Given the description of an element on the screen output the (x, y) to click on. 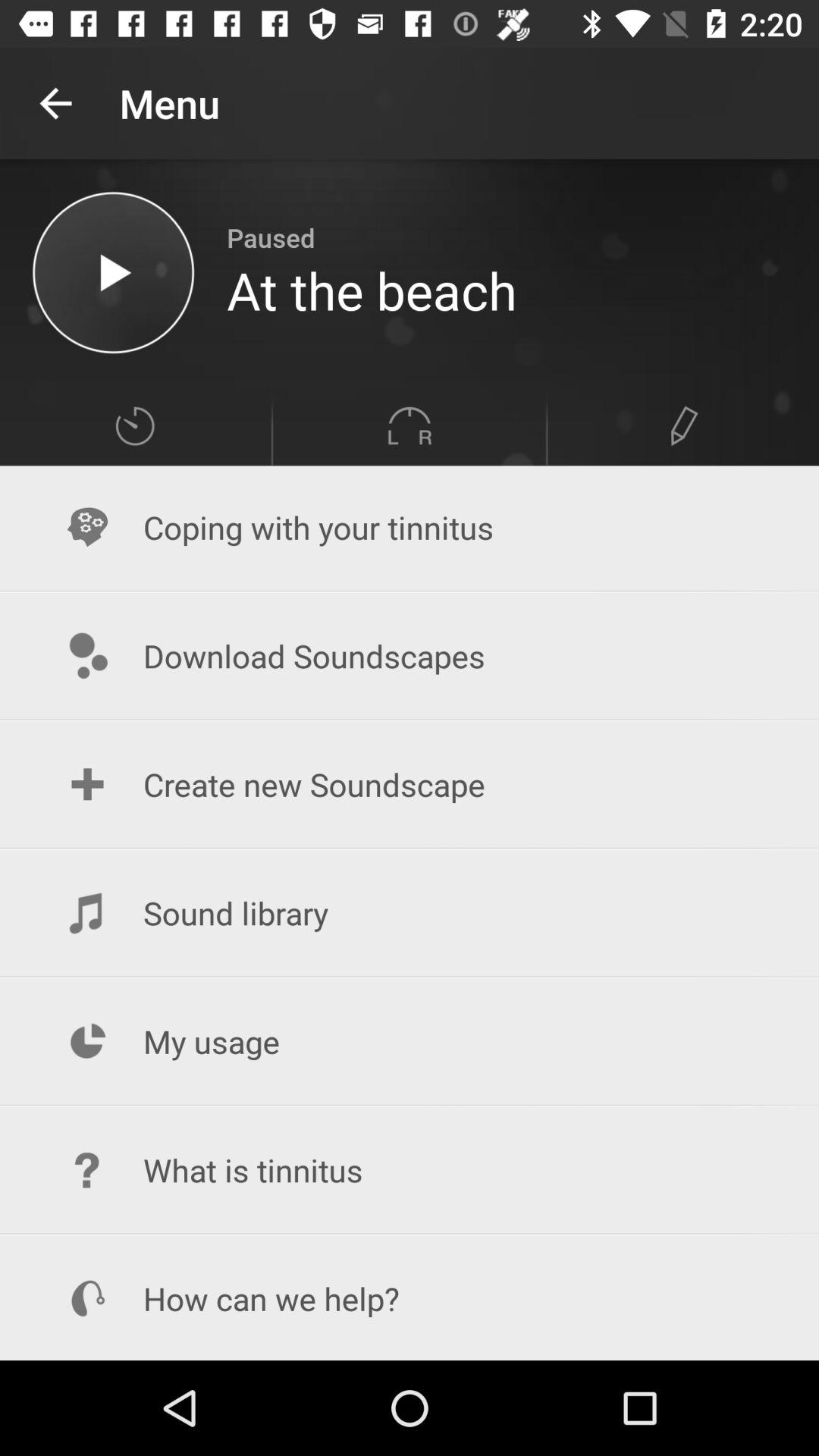
press the icon below coping with your item (409, 655)
